Given the description of an element on the screen output the (x, y) to click on. 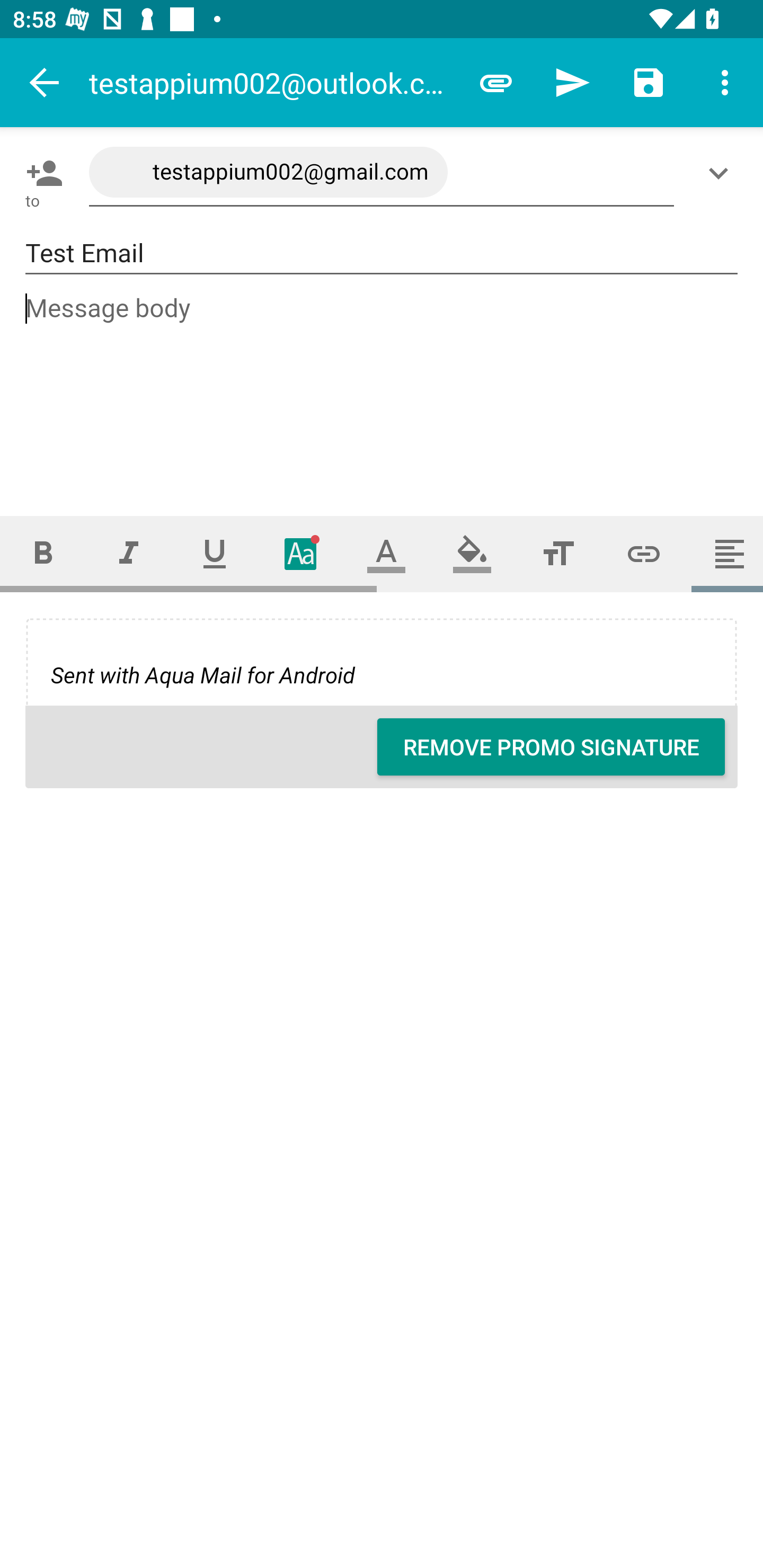
Navigate up (44, 82)
testappium002@outlook.com (273, 82)
Attach (495, 82)
Send (572, 82)
Save (648, 82)
More options (724, 81)
testappium002@gmail.com,  (381, 173)
Pick contact: To (41, 172)
Show/Add CC/BCC (721, 172)
Test Email (381, 252)
Message body (381, 388)
Bold (42, 553)
Italic (128, 553)
Underline (214, 553)
Typeface (font) (300, 553)
Text color (385, 553)
Fill color (471, 553)
Font size (558, 553)
Set link (643, 553)
Align left (724, 553)
REMOVE PROMO SIGNATURE (550, 747)
